Given the description of an element on the screen output the (x, y) to click on. 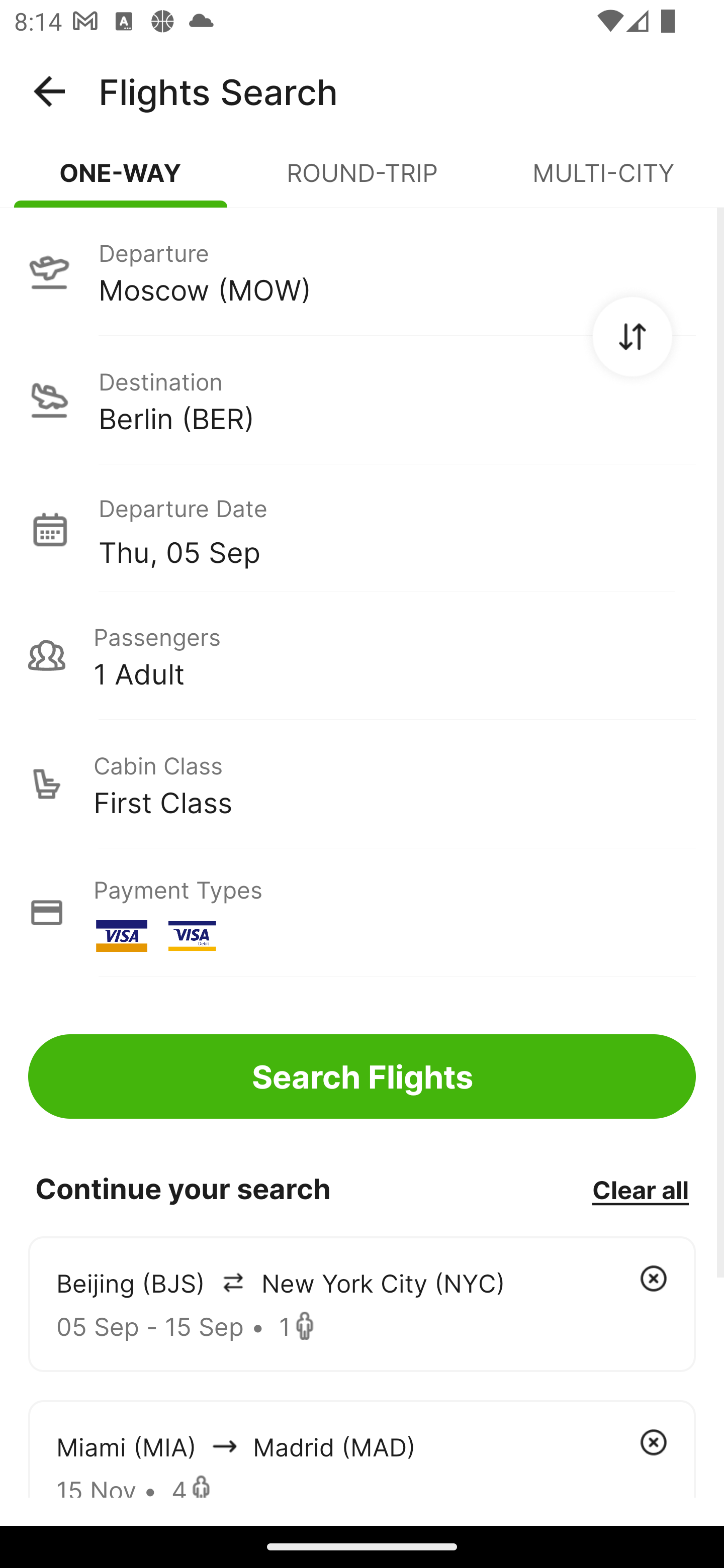
ONE-WAY (120, 180)
ROUND-TRIP (361, 180)
MULTI-CITY (603, 180)
Departure Moscow (MOW) (362, 270)
Destination Berlin (BER) (362, 400)
Departure Date Thu, 05 Sep (396, 528)
Passengers 1 Adult (362, 655)
Cabin Class First Class (362, 783)
Payment Types (362, 912)
Search Flights (361, 1075)
Clear all (640, 1189)
Miami (MIA)  arrowIcon  Madrid (MAD) 15 Nov •  4  (361, 1448)
